Given the description of an element on the screen output the (x, y) to click on. 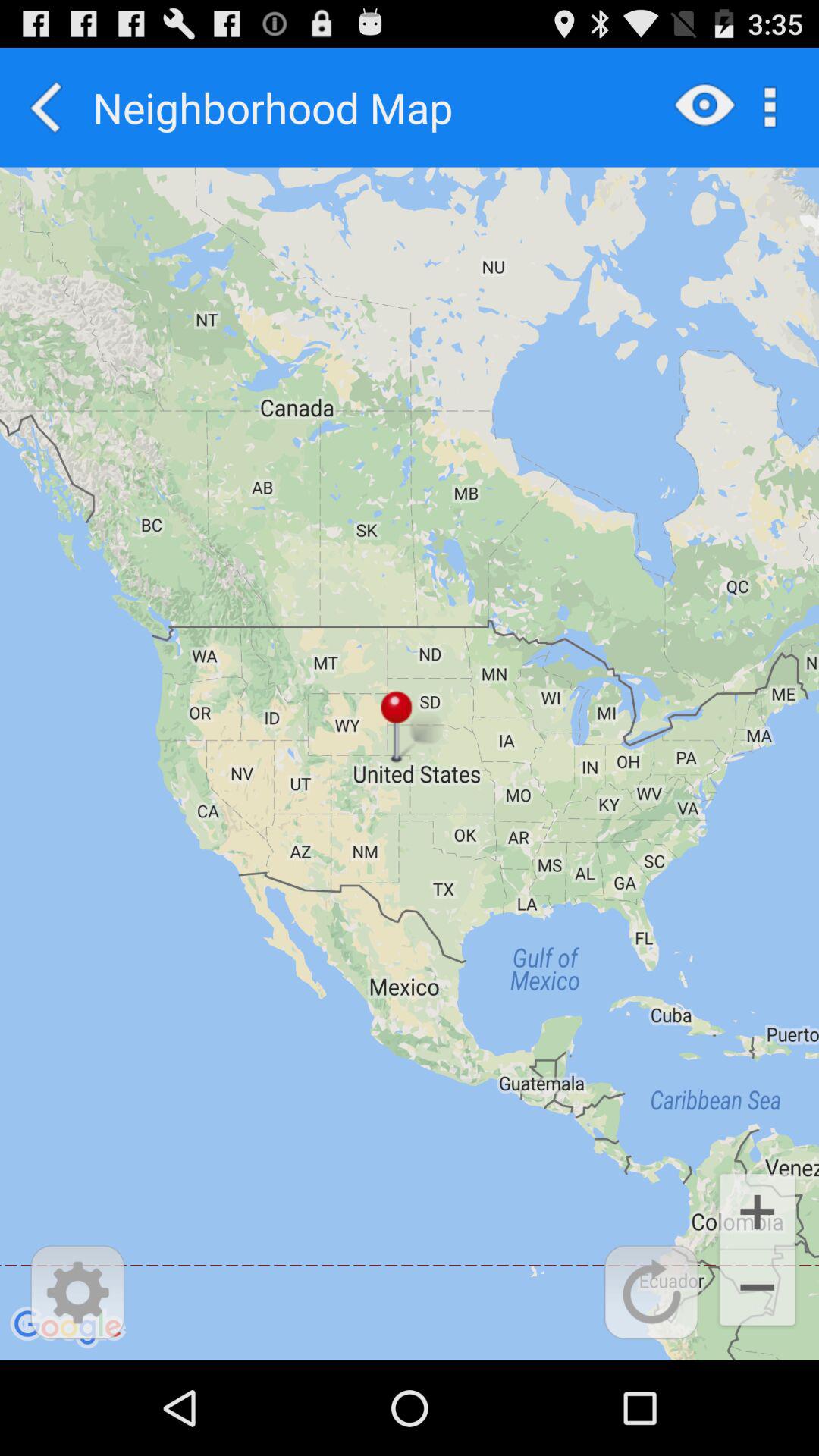
choose app to the left of the neighborhood map icon (46, 106)
